Given the description of an element on the screen output the (x, y) to click on. 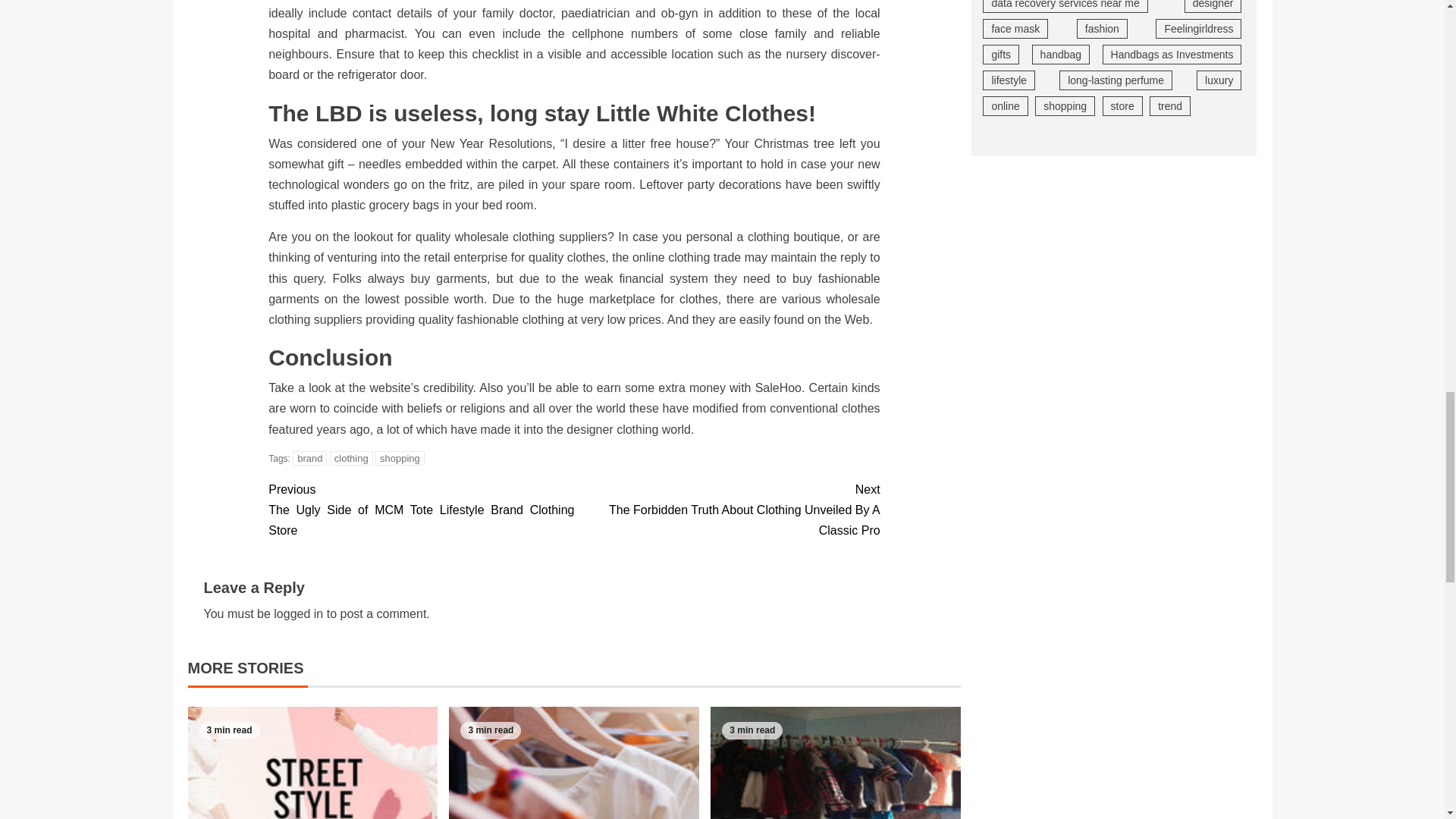
brand (309, 458)
clothing (351, 458)
An Unbiased View of Clothes (312, 762)
shopping (400, 458)
logged in (298, 613)
